Given the description of an element on the screen output the (x, y) to click on. 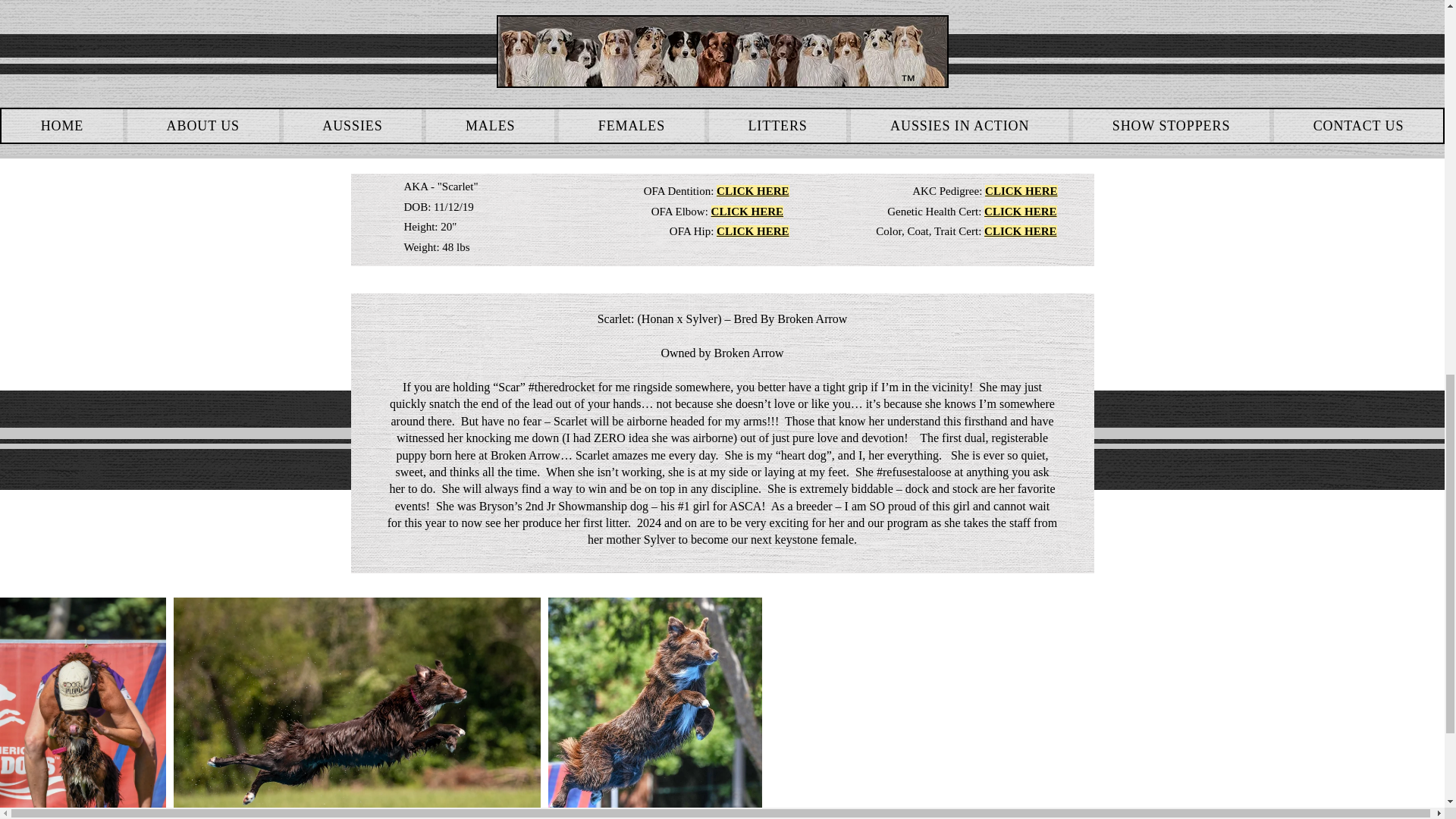
CLICK HERE (747, 211)
CLICK HERE (1021, 191)
CLICK HERE (752, 191)
CLICK HERE (752, 231)
